Given the description of an element on the screen output the (x, y) to click on. 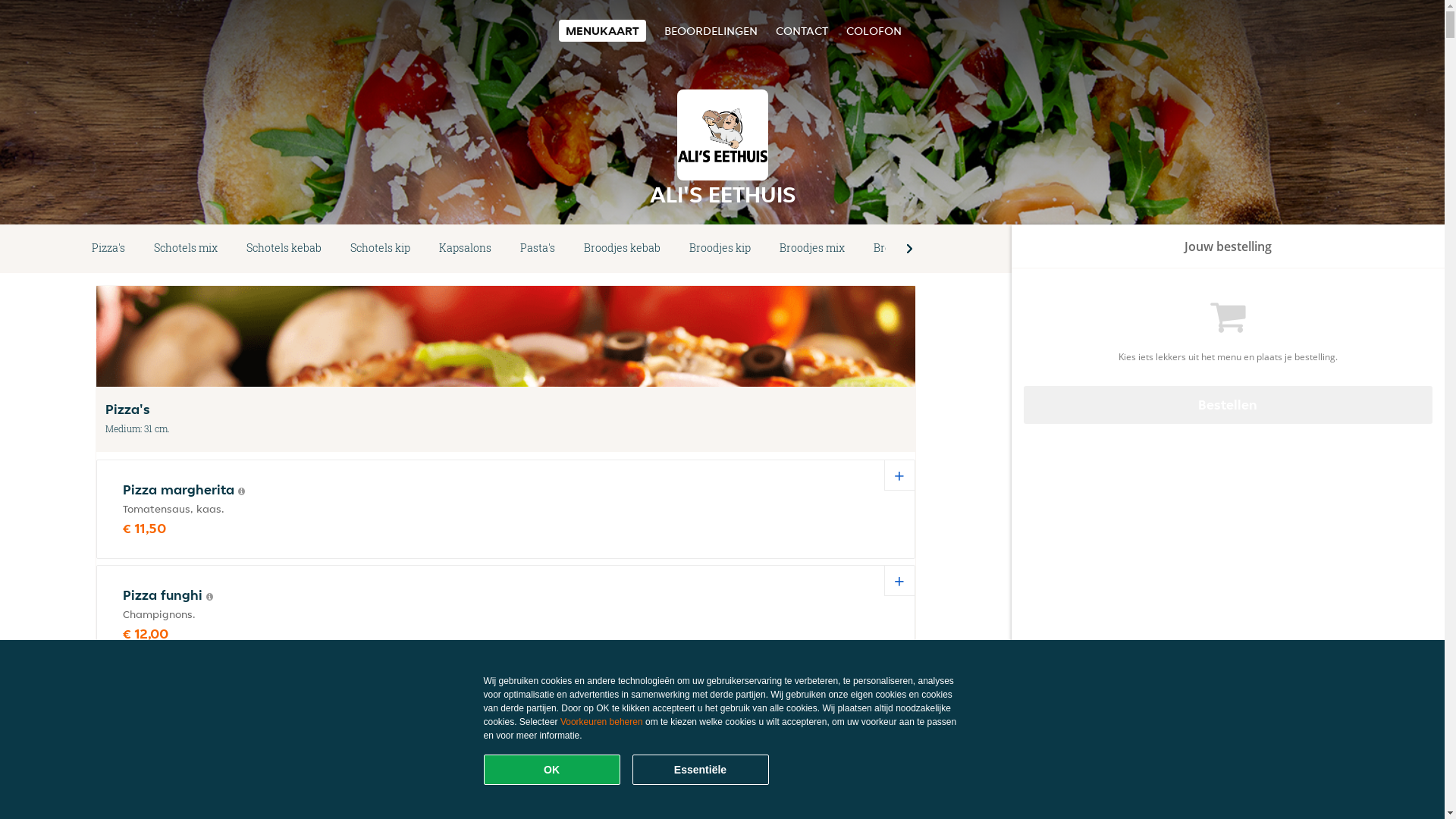
Meer productinformatie Element type: hover (211, 807)
COLOFON Element type: text (873, 30)
Schotels kebab Element type: text (283, 248)
Broodjes mix Element type: text (812, 248)
Kapsalons Element type: text (464, 248)
Schotels mix Element type: text (185, 248)
Bestellen Element type: text (1228, 404)
Meer productinformatie Element type: hover (209, 596)
OK Element type: text (551, 769)
Schotels kip Element type: text (379, 248)
Broodjes vegetarisch Element type: text (926, 248)
Broodjes kip Element type: text (719, 248)
Pasta's Element type: text (537, 248)
Meer productinformatie Element type: hover (241, 491)
Voorkeuren beheren Element type: text (601, 721)
MENUKAART Element type: text (601, 30)
Pizza's Element type: text (108, 248)
Meer productinformatie Element type: hover (233, 701)
BEOORDELINGEN Element type: text (710, 30)
CONTACT Element type: text (801, 30)
Broodjes kebab Element type: text (621, 248)
